Given the description of an element on the screen output the (x, y) to click on. 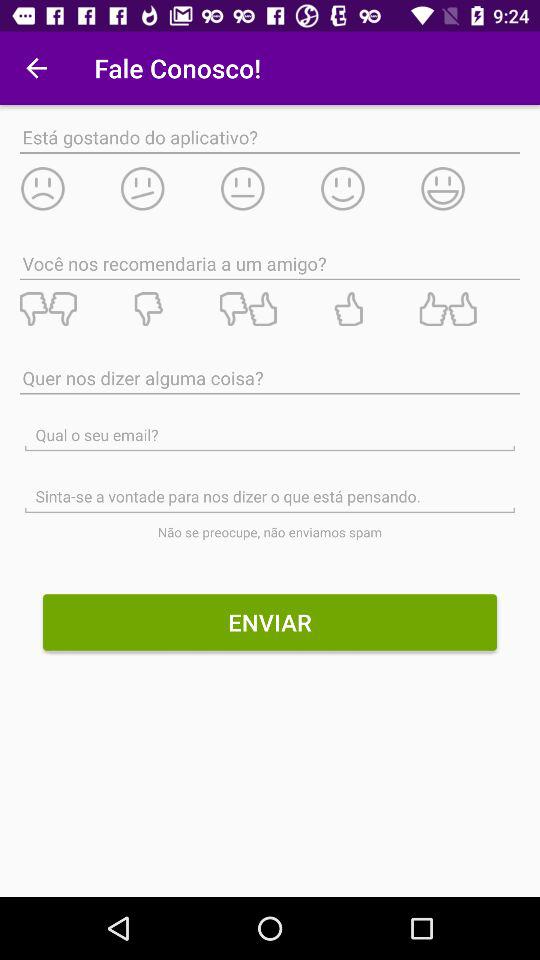
turn on app next to the fale conosco! icon (36, 68)
